Given the description of an element on the screen output the (x, y) to click on. 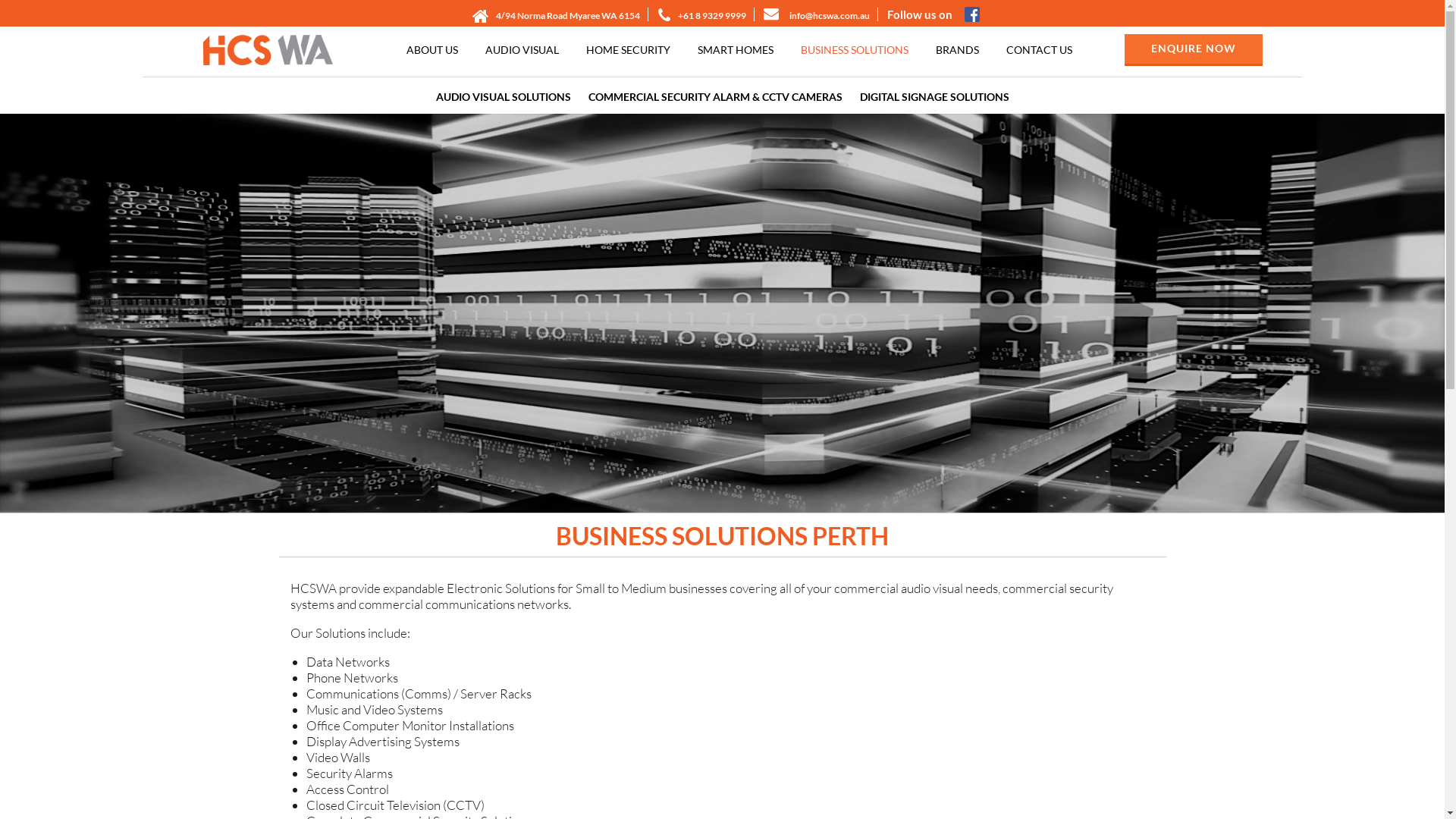
BUSINESS SOLUTIONS Element type: text (854, 49)
HOME SECURITY Element type: text (627, 49)
BRANDS Element type: text (957, 49)
ABOUT US Element type: text (432, 49)
COMMERCIAL SECURITY ALARM & CCTV CAMERAS Element type: text (715, 95)
ENQUIRE NOW Element type: text (1193, 49)
info@hcswa.com.au Element type: text (829, 15)
CONTACT US Element type: text (1039, 49)
AUDIO VISUAL Element type: text (522, 49)
+61 8 9329 9999 Element type: text (711, 15)
AUDIO VISUAL SOLUTIONS Element type: text (502, 95)
4/94 Norma Road Myaree WA 6154 Element type: text (567, 15)
DIGITAL SIGNAGE SOLUTIONS Element type: text (934, 95)
SMART HOMES Element type: text (735, 49)
